Given the description of an element on the screen output the (x, y) to click on. 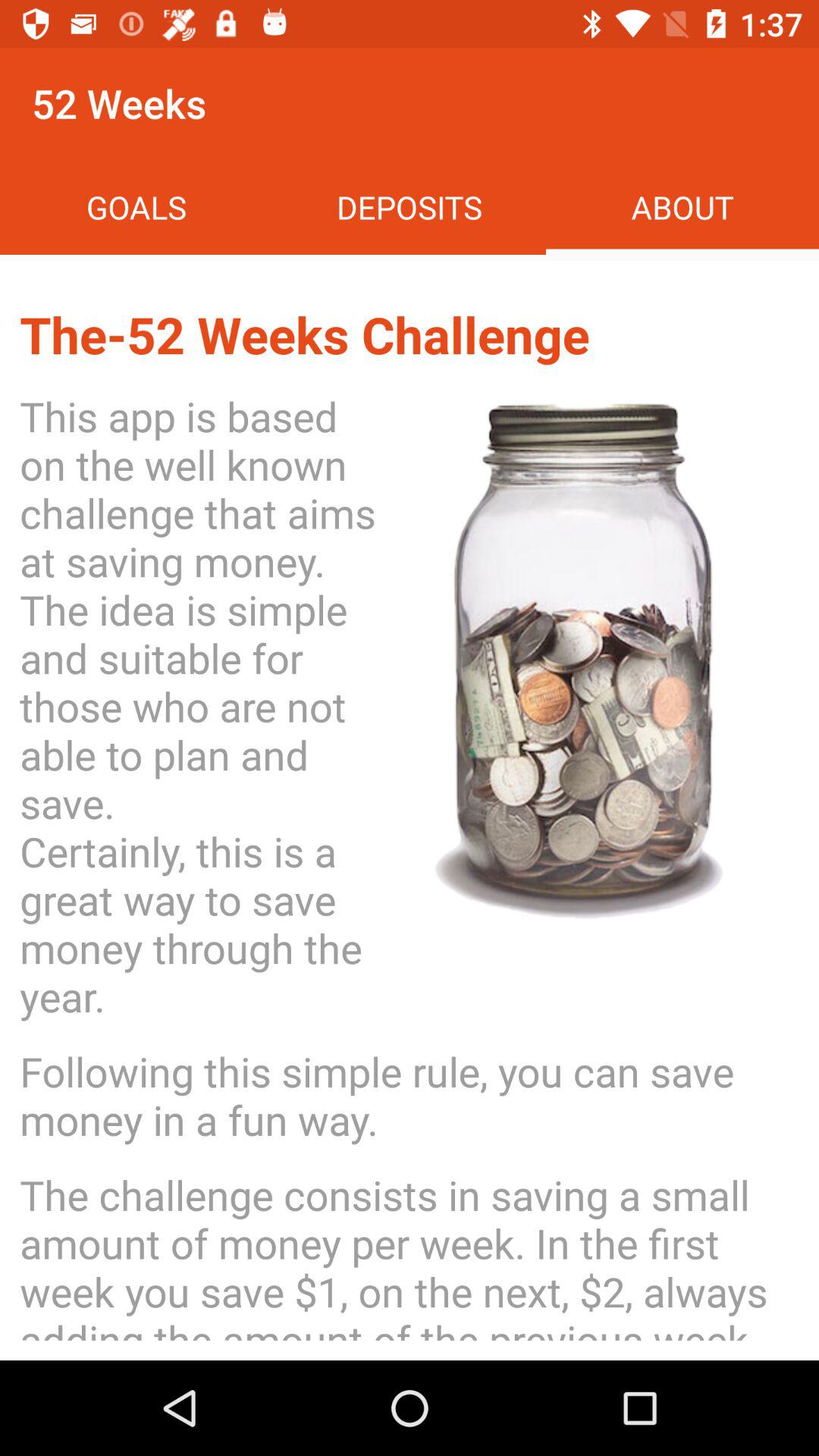
select icon above the 52 weeks icon (136, 206)
